Given the description of an element on the screen output the (x, y) to click on. 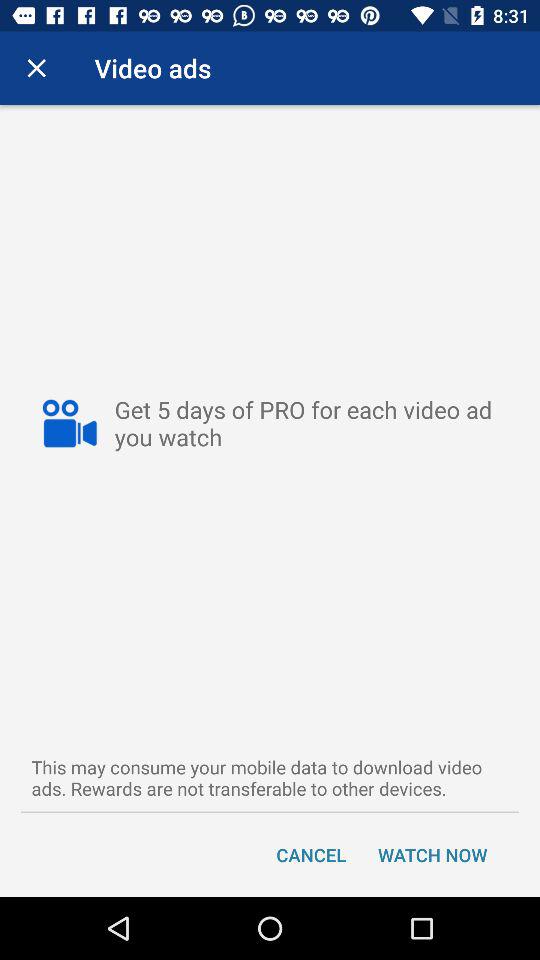
launch the watch now item (432, 854)
